Given the description of an element on the screen output the (x, y) to click on. 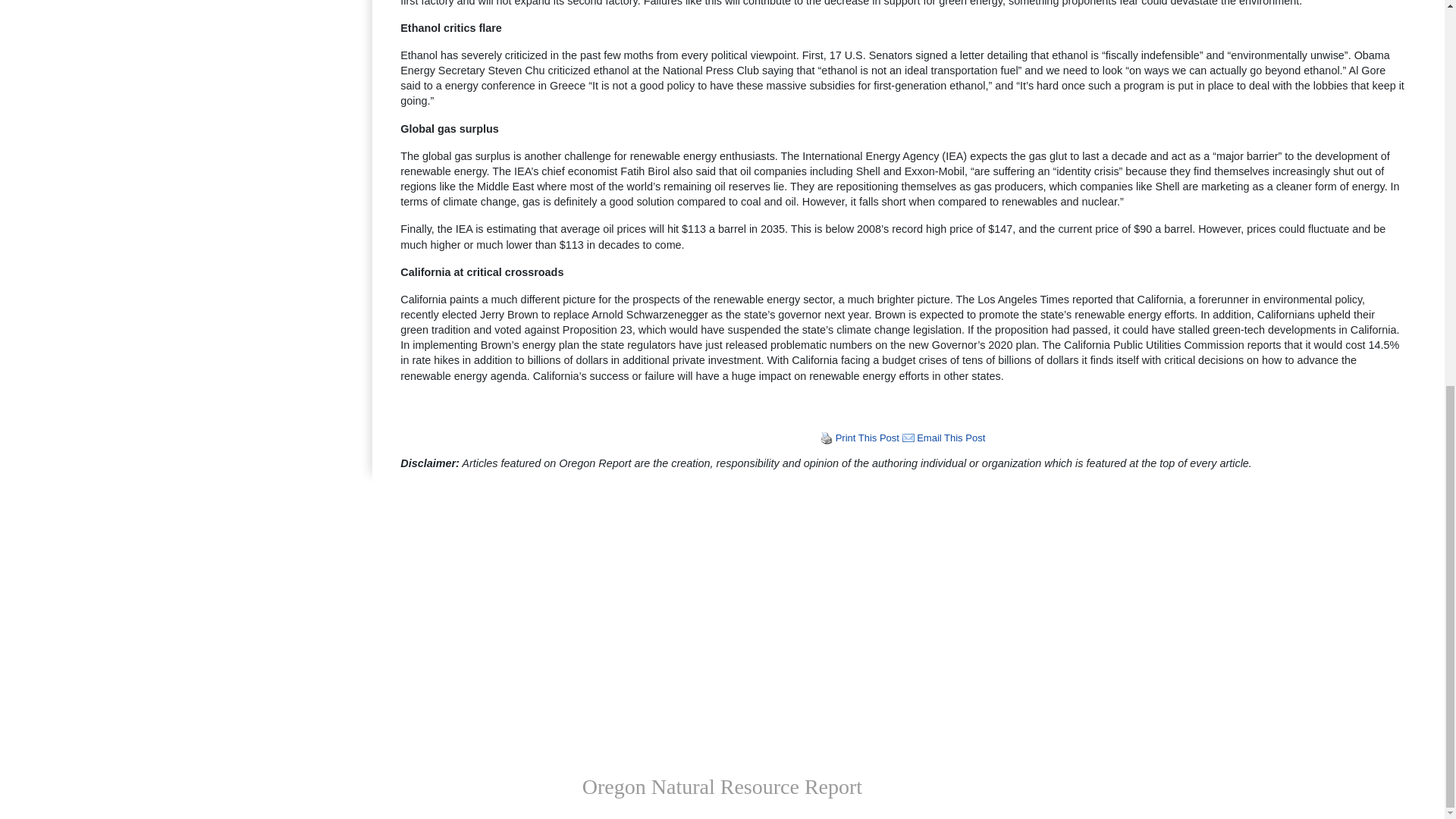
Print This Post (867, 437)
Print This Post (867, 437)
Email This Post (951, 437)
Print This Post (826, 438)
Email This Post (908, 437)
Print This Post (826, 437)
Oregon Natural Resource Report (721, 786)
